Given the description of an element on the screen output the (x, y) to click on. 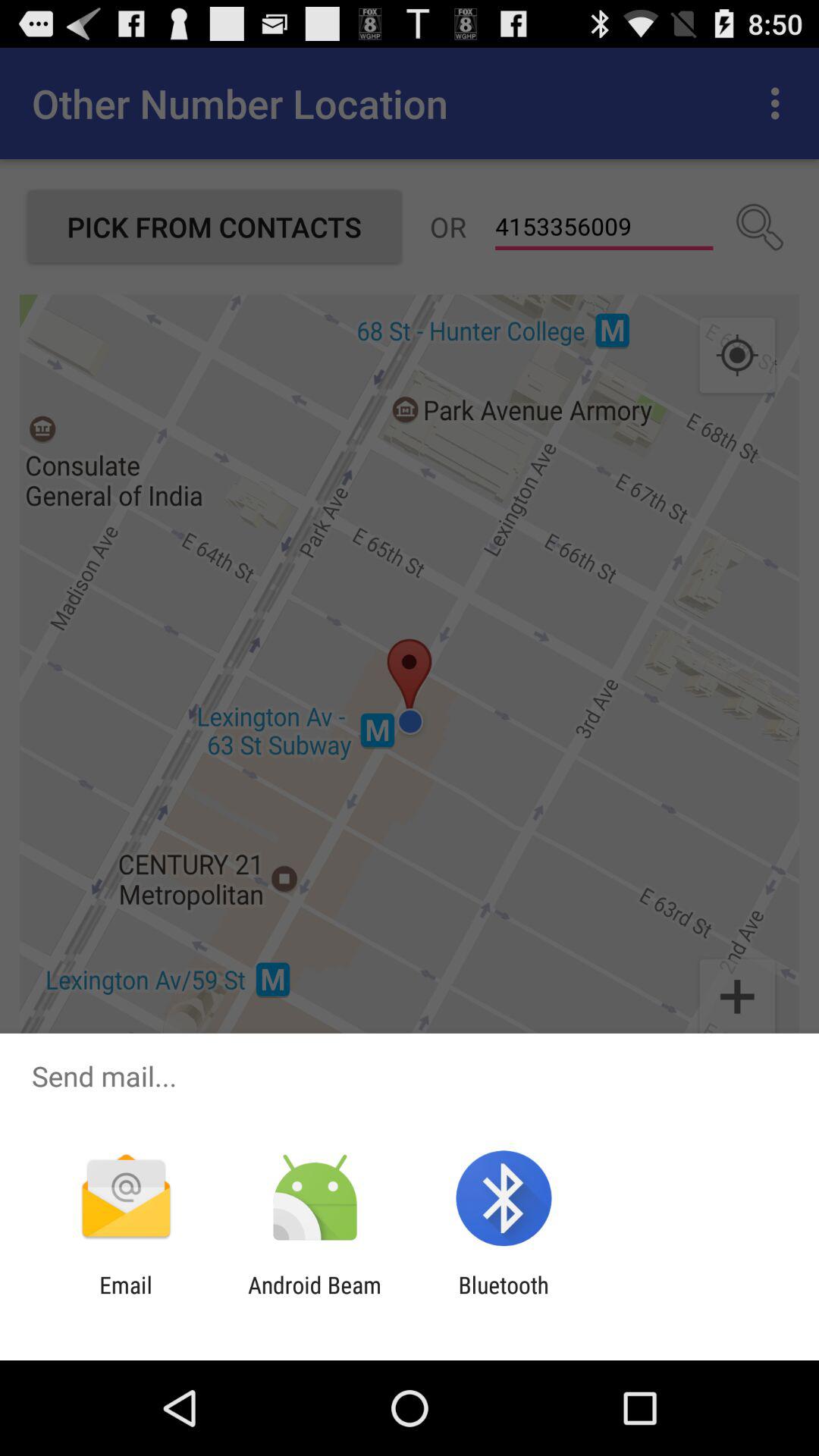
click icon next to android beam icon (125, 1298)
